Given the description of an element on the screen output the (x, y) to click on. 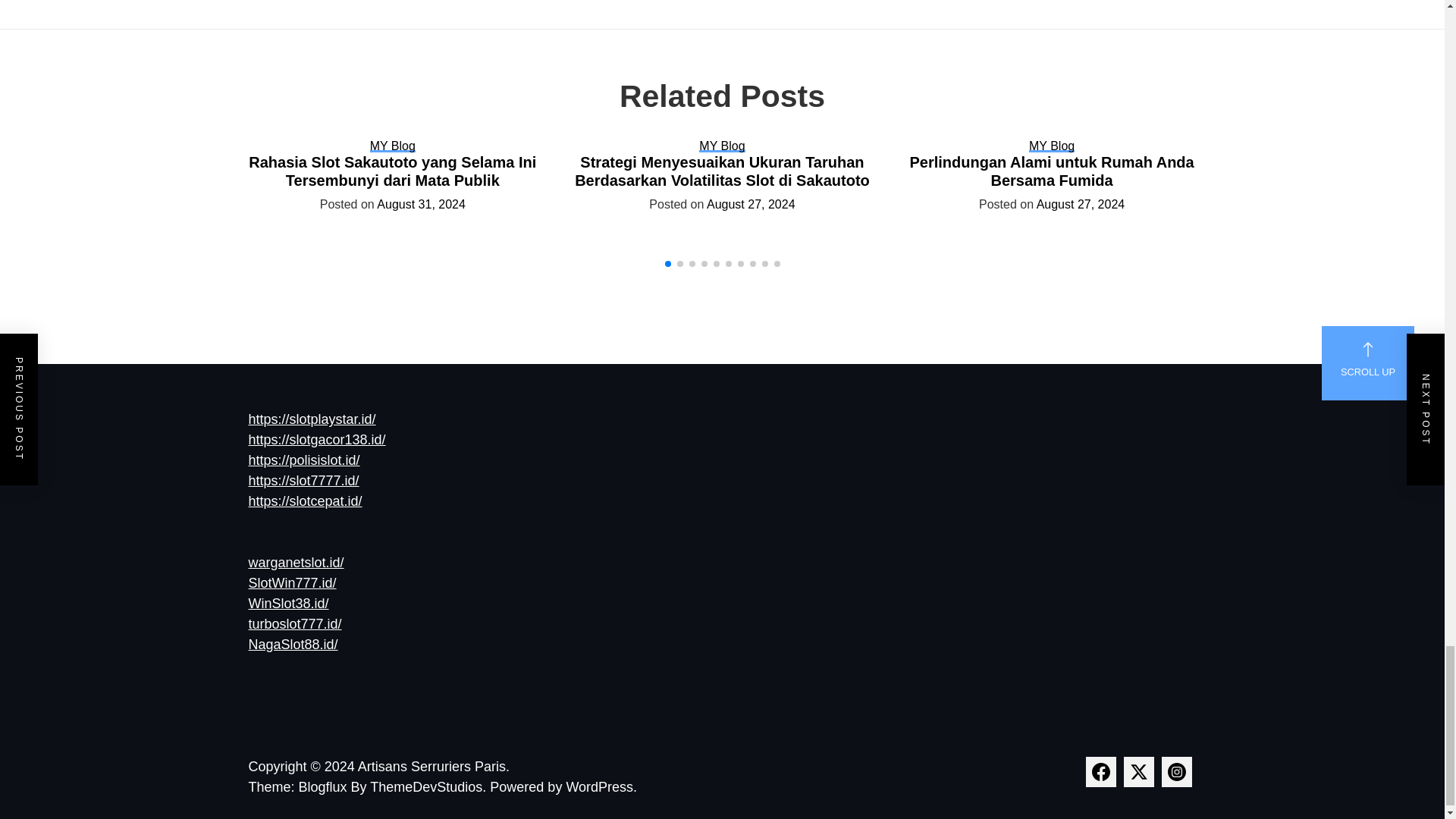
Artisans Serruriers Paris (433, 766)
WordPress (601, 786)
ThemeDevStudios (429, 786)
SCROLL UP (1367, 362)
